Given the description of an element on the screen output the (x, y) to click on. 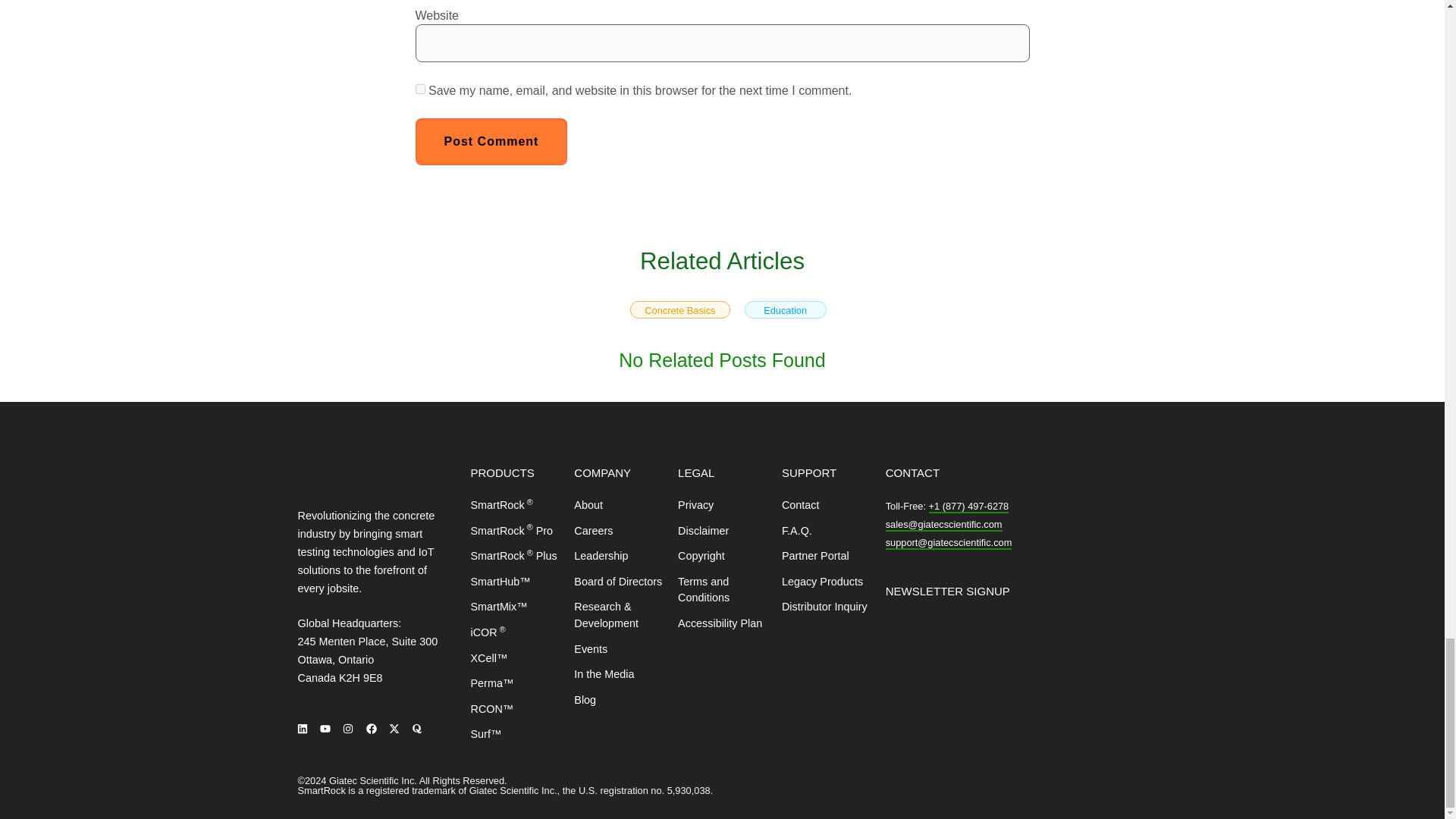
Post Comment (490, 141)
yes (419, 89)
